Given the description of an element on the screen output the (x, y) to click on. 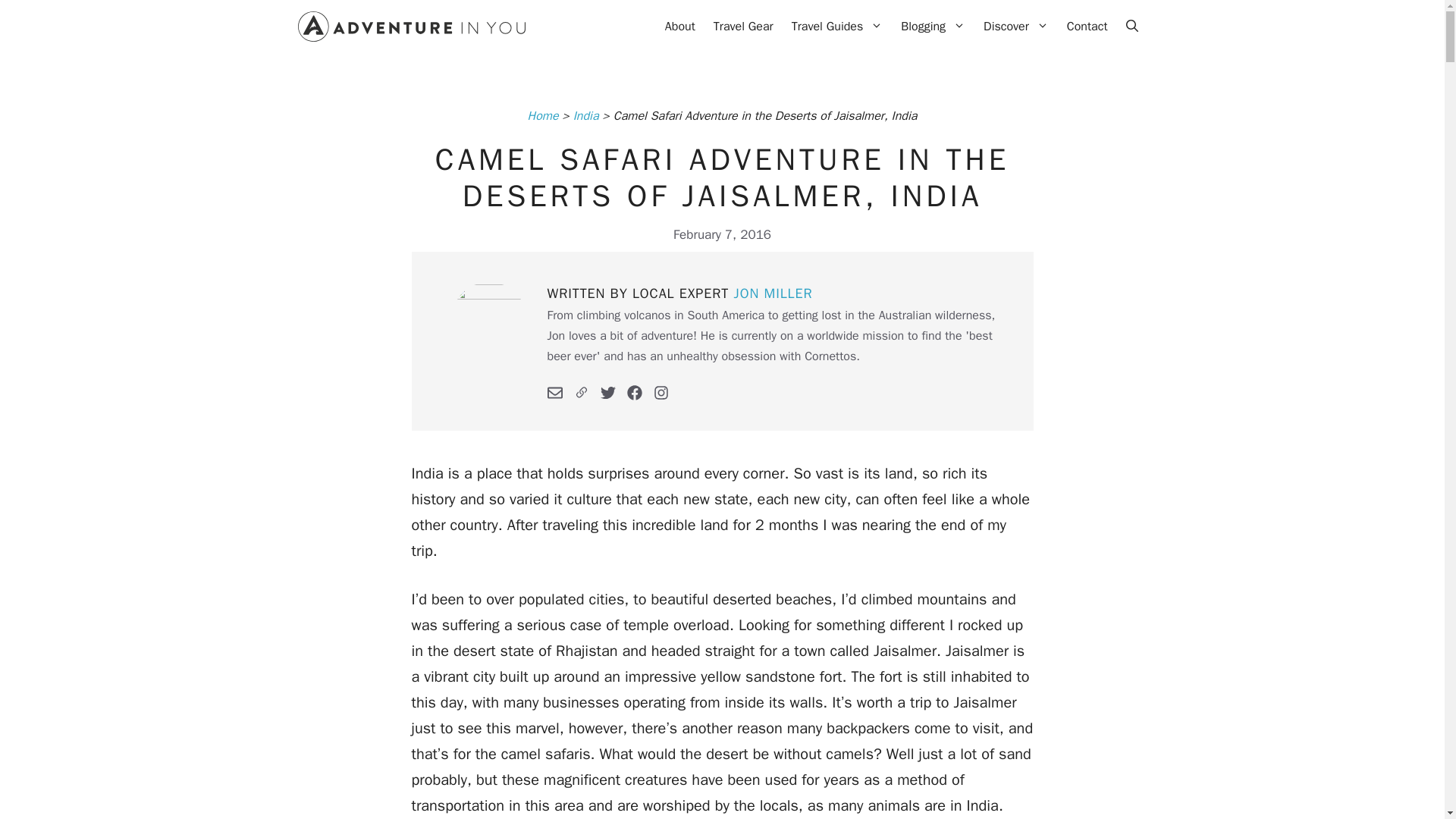
Travel Gear (743, 26)
About Adventure In You (680, 26)
Travel Guides (837, 26)
About (680, 26)
Best Travel Gear (743, 26)
